Given the description of an element on the screen output the (x, y) to click on. 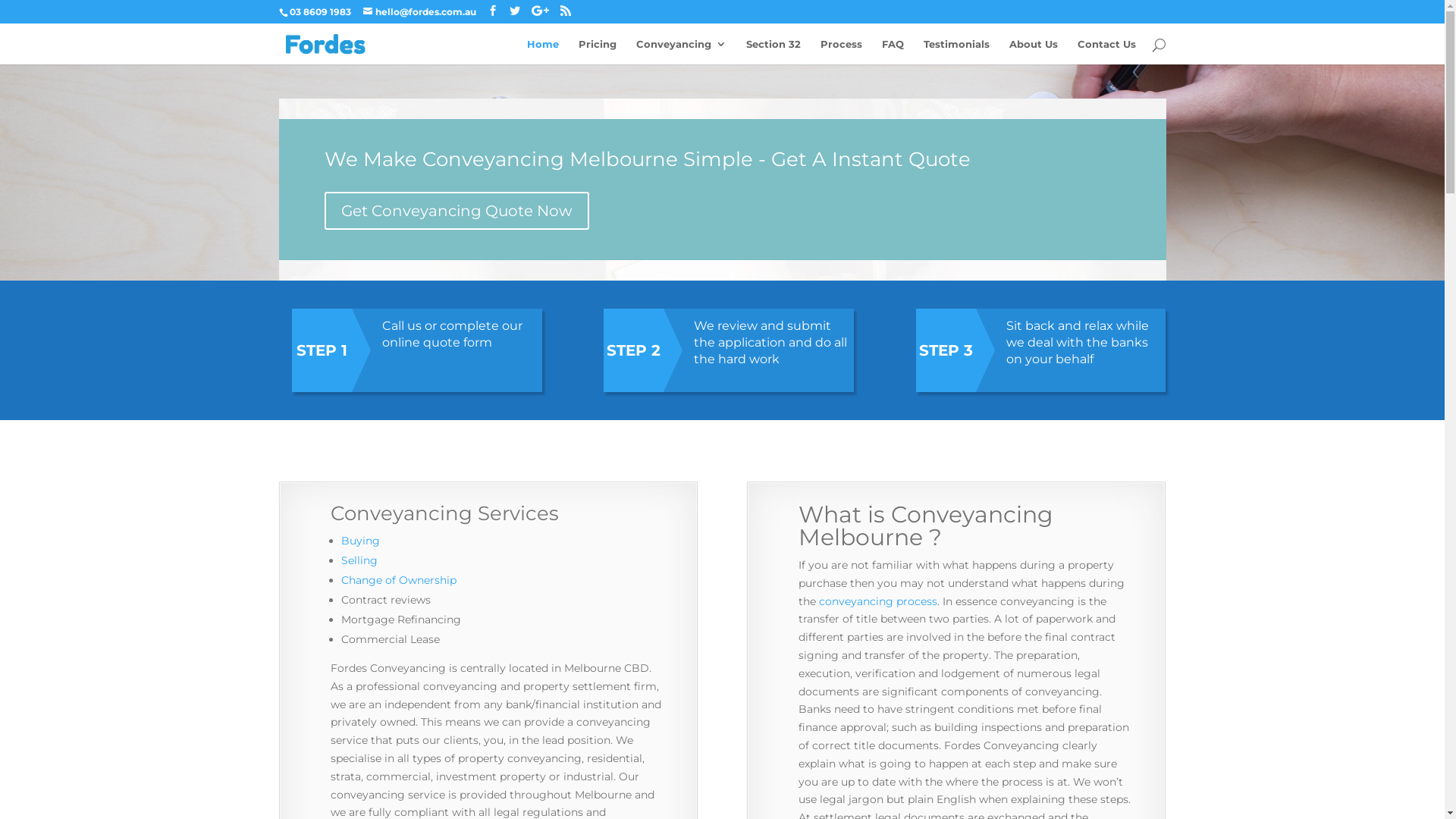
conveyancing process Element type: text (878, 601)
About Us Element type: text (1032, 51)
Get Conveyancing Quote Now Element type: text (456, 210)
Contact Us Element type: text (1105, 51)
Home Element type: text (542, 51)
Pricing Element type: text (596, 51)
Change of Ownership Element type: text (398, 579)
Conveyancing Element type: text (680, 51)
FAQ Element type: text (892, 51)
Selling Element type: text (359, 560)
Testimonials Element type: text (956, 51)
Process Element type: text (841, 51)
Buying Element type: text (360, 540)
hello@fordes.com.au Element type: text (418, 11)
Section 32 Element type: text (773, 51)
